Given the description of an element on the screen output the (x, y) to click on. 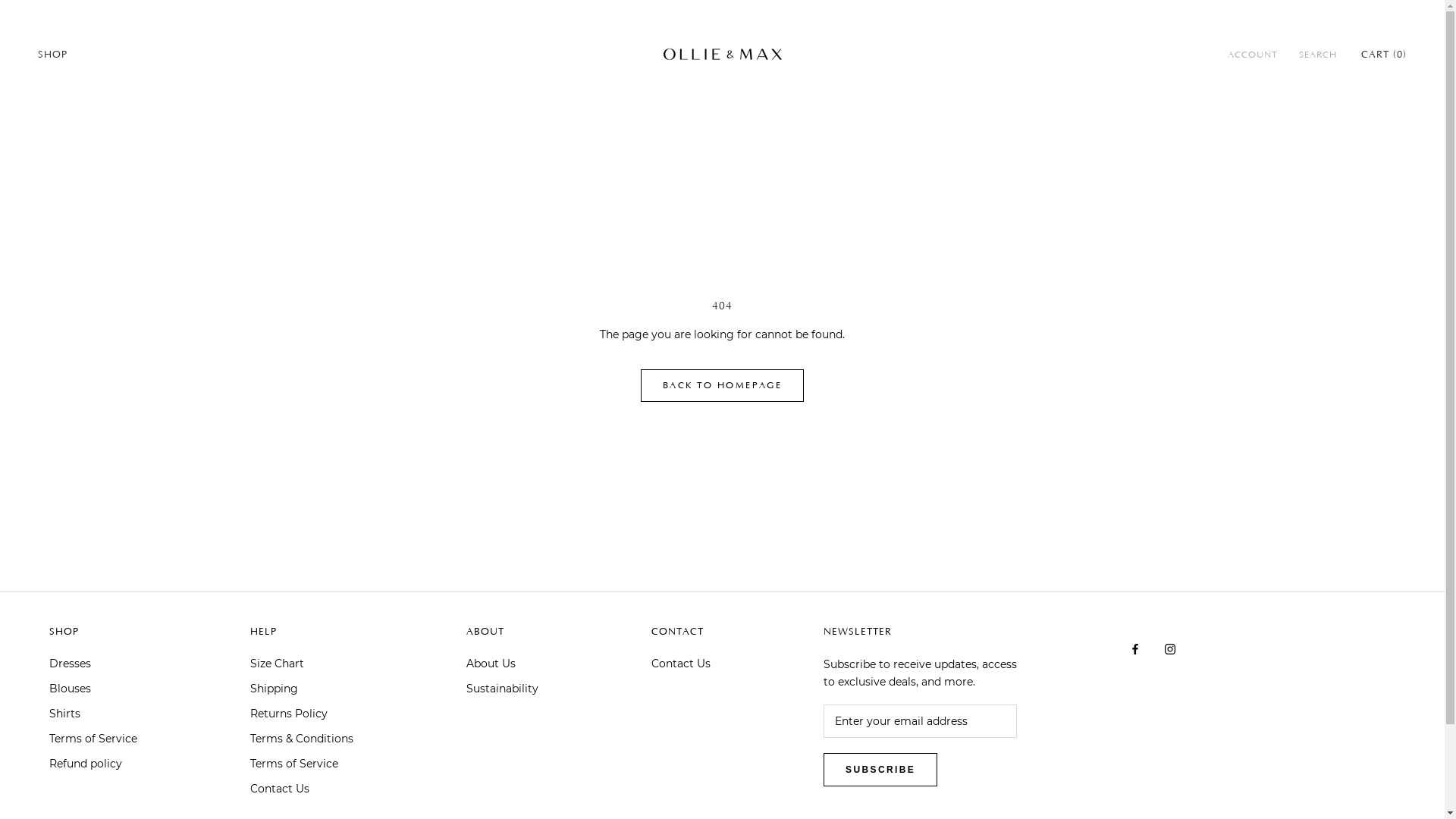
Sustainability Element type: text (502, 688)
Shirts Element type: text (93, 713)
Contact Us Element type: text (680, 663)
SEARCH Element type: text (1317, 54)
ACCOUNT Element type: text (1252, 54)
CART (0) Element type: text (1383, 54)
Terms & Conditions Element type: text (301, 738)
Refund policy Element type: text (93, 763)
SHOP
SHOP Element type: text (52, 54)
Contact Us Element type: text (301, 789)
Terms of Service Element type: text (93, 738)
About Us Element type: text (502, 663)
BACK TO HOMEPAGE Element type: text (721, 385)
Returns Policy Element type: text (301, 713)
Blouses Element type: text (93, 688)
Size Chart Element type: text (301, 663)
Terms of Service Element type: text (301, 763)
SUBSCRIBE Element type: text (880, 769)
Shipping Element type: text (301, 688)
Dresses Element type: text (93, 663)
